Given the description of an element on the screen output the (x, y) to click on. 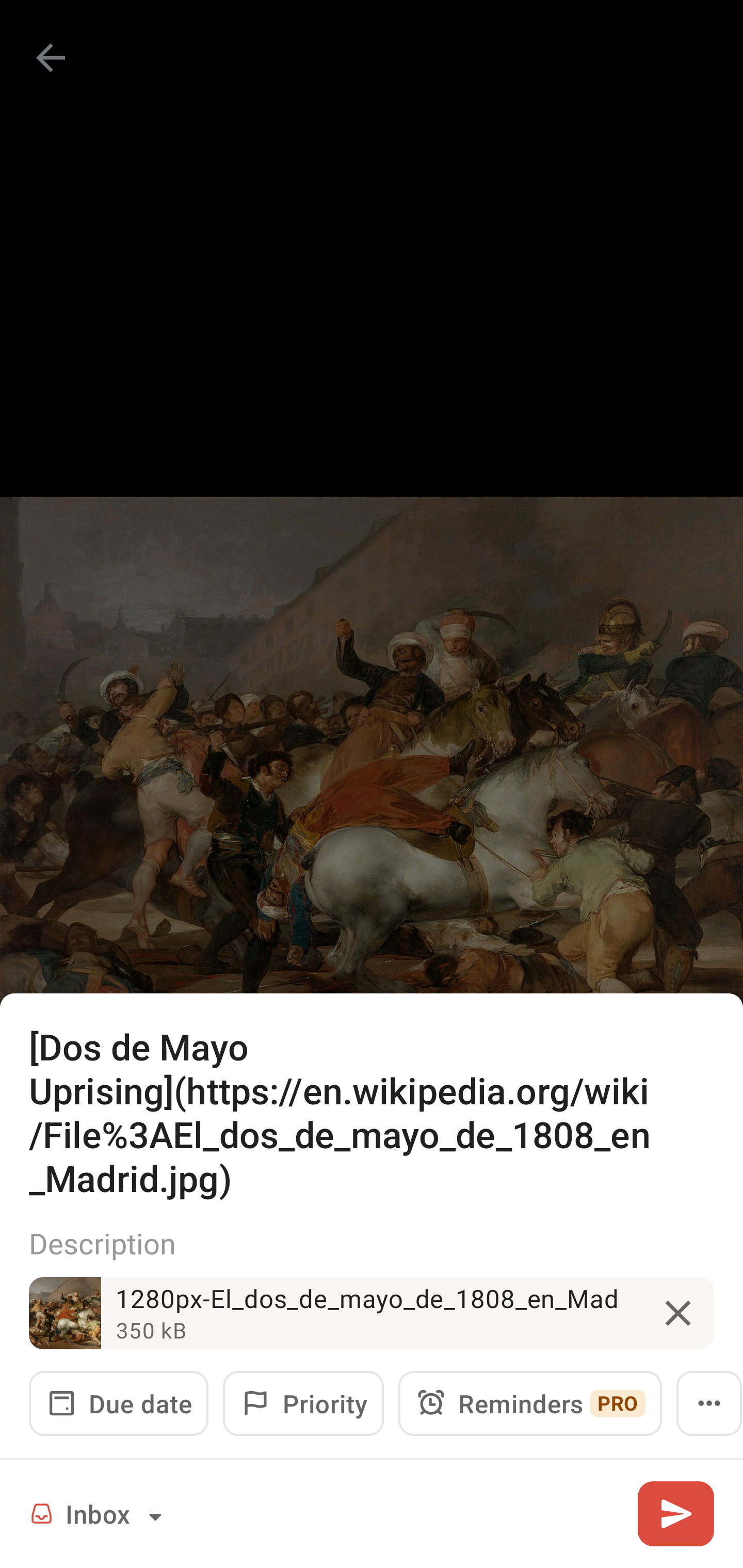
Description (371, 1242)
Remove attachment (677, 1313)
Due date Date (118, 1403)
Priority (303, 1403)
Reminders PRO Reminders (530, 1403)
Open menu (709, 1403)
Inbox Project (99, 1513)
Add (675, 1513)
